Given the description of an element on the screen output the (x, y) to click on. 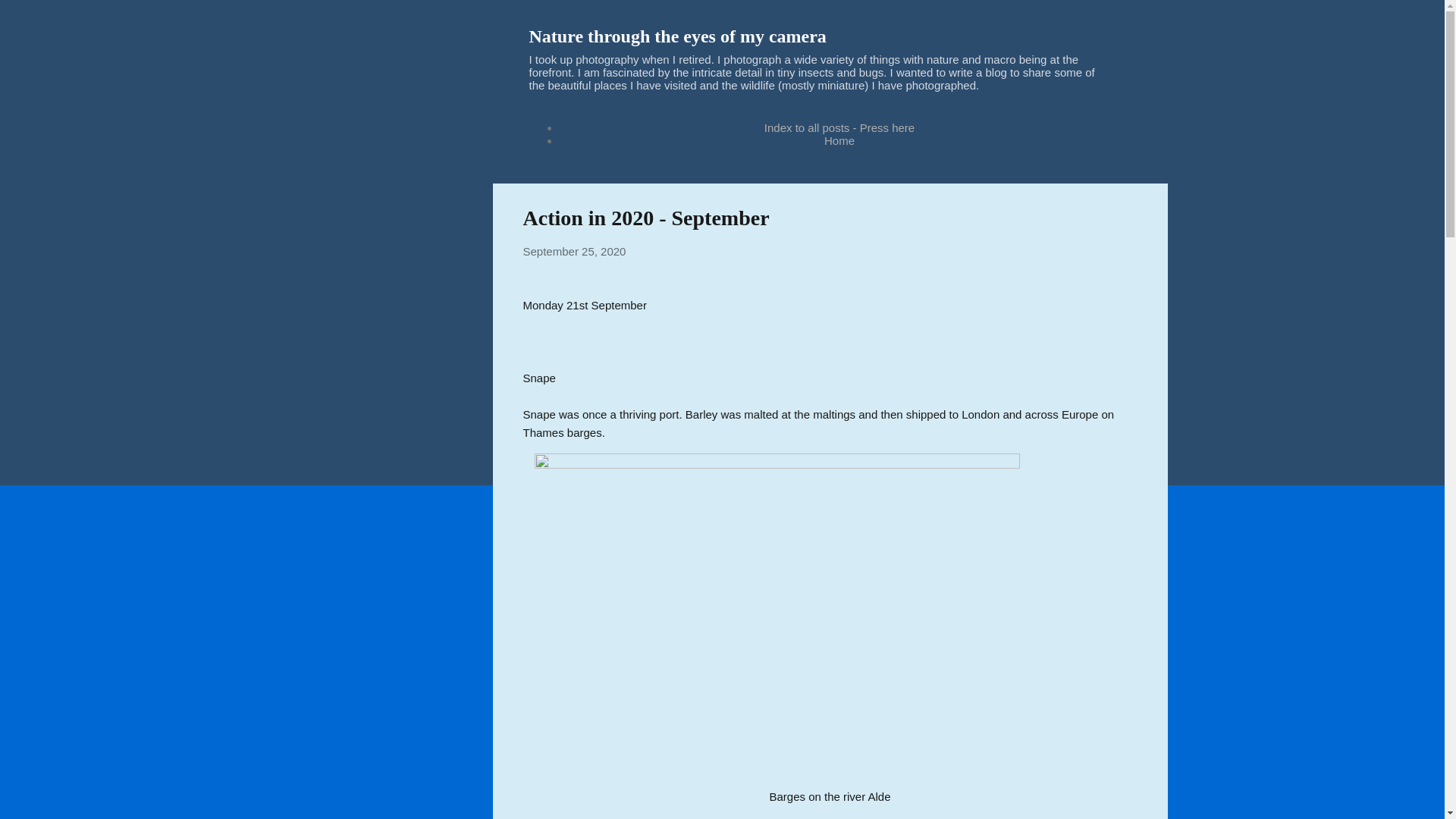
permanent link (574, 250)
Home (839, 140)
September 25, 2020 (574, 250)
Nature through the eyes of my camera (678, 35)
Index to all posts - Press here (839, 127)
Search (29, 18)
